Given the description of an element on the screen output the (x, y) to click on. 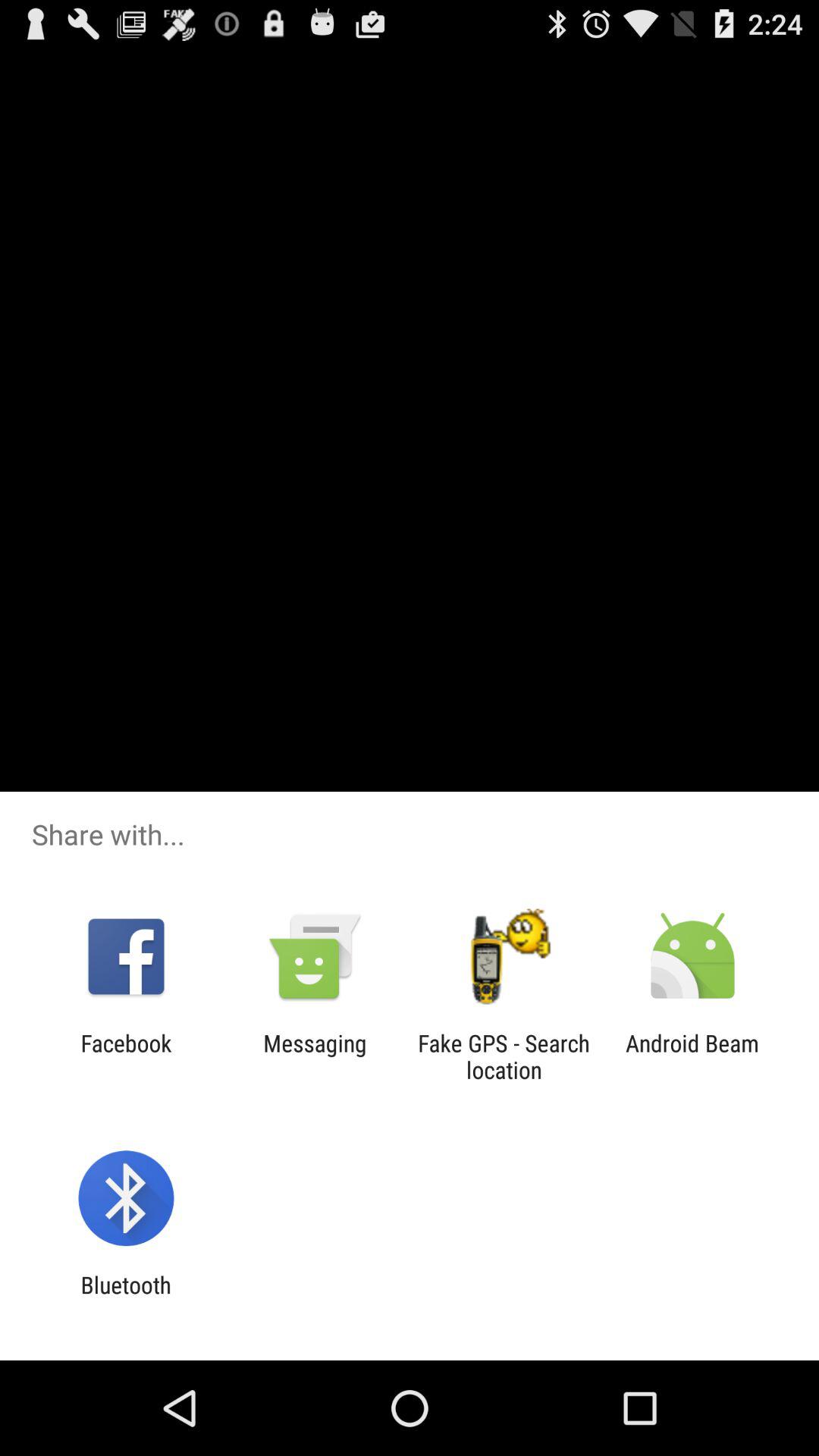
turn off the app at the bottom right corner (692, 1056)
